Given the description of an element on the screen output the (x, y) to click on. 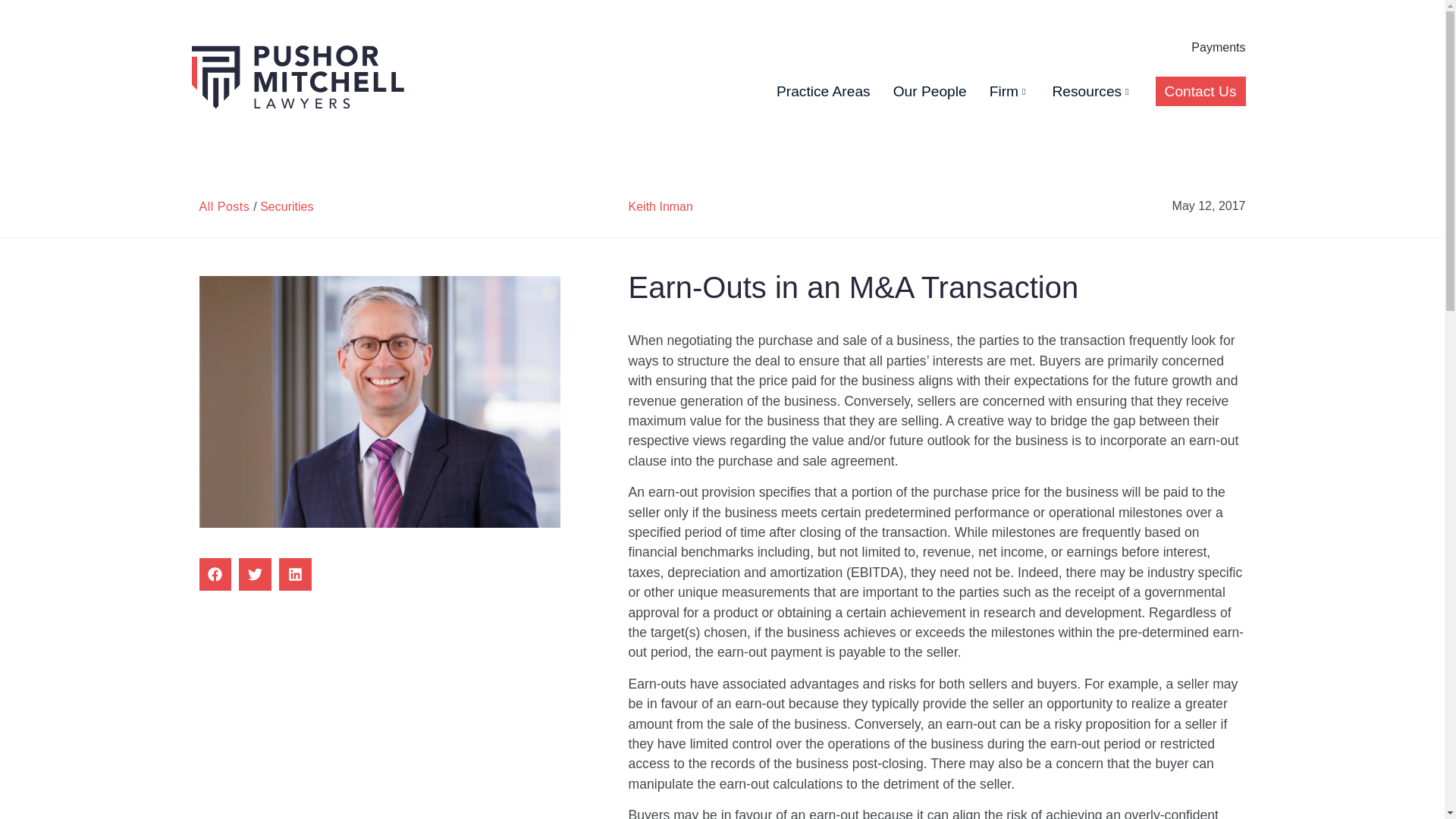
Practice Areas (822, 91)
Resources (1091, 91)
Our People (929, 91)
Posts by Keith Inman (660, 205)
Contact Us (1201, 91)
Payments (1217, 47)
Firm (1008, 91)
